Given the description of an element on the screen output the (x, y) to click on. 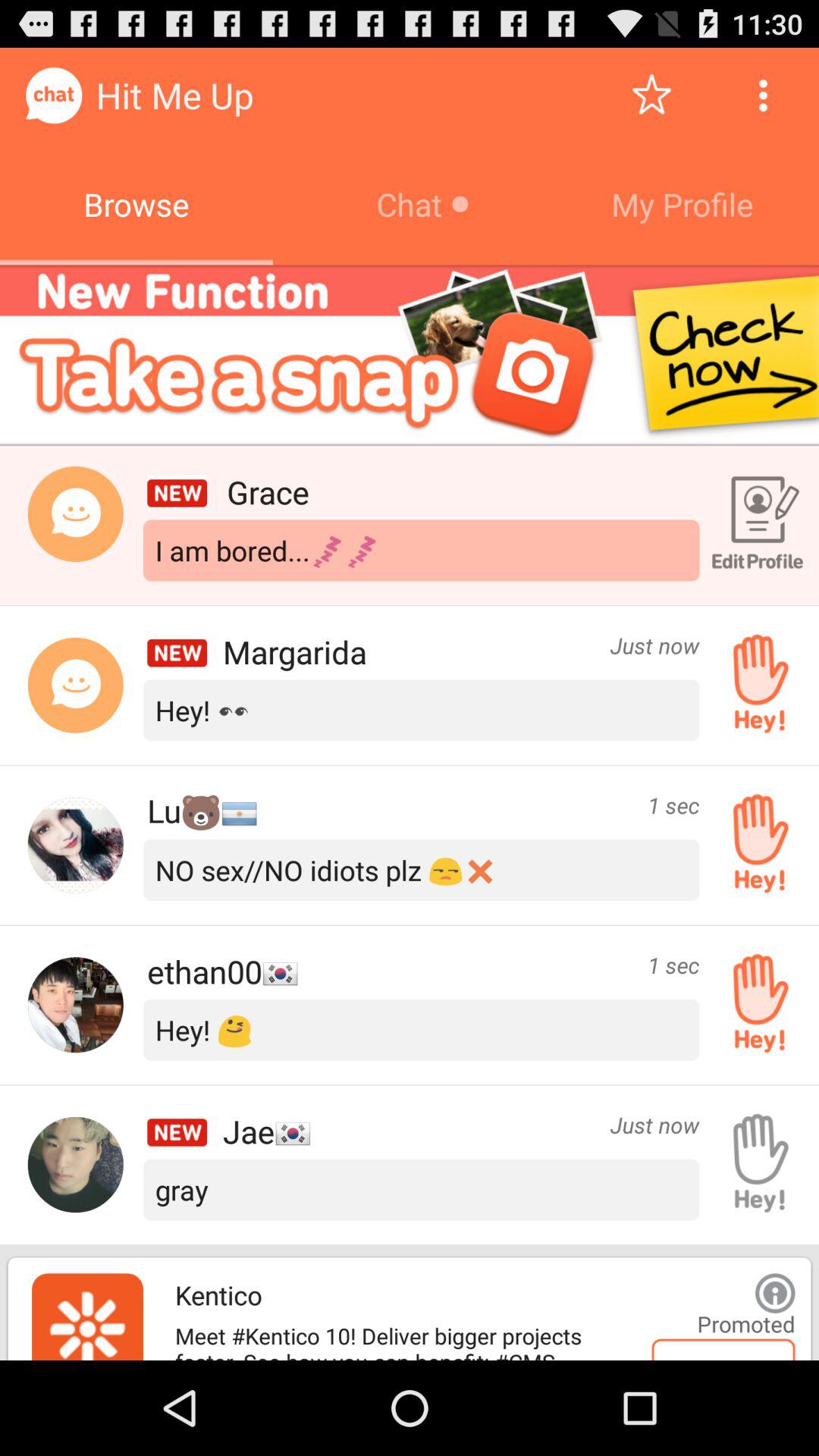
send poke message (755, 1004)
